Given the description of an element on the screen output the (x, y) to click on. 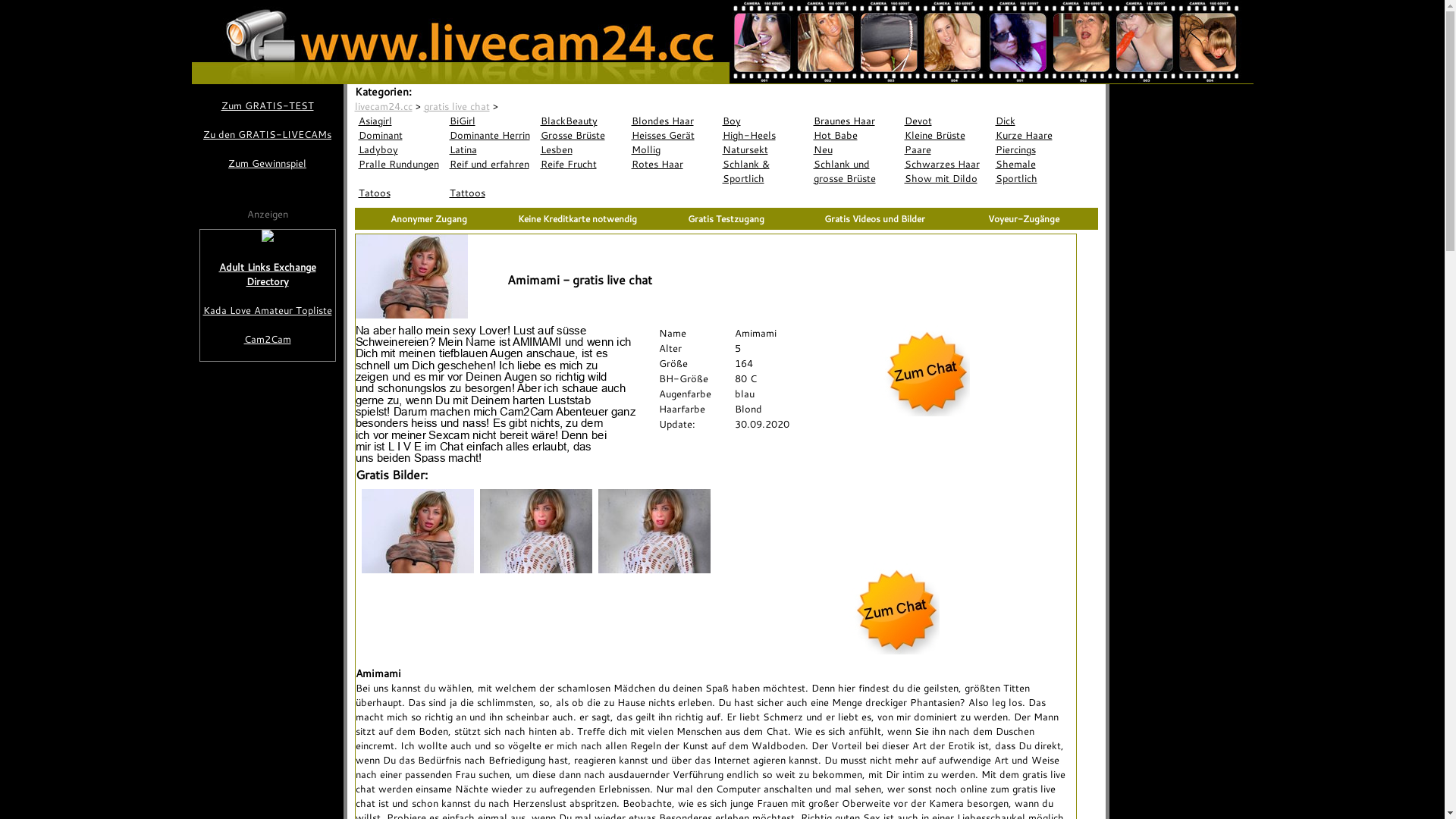
Mollig Element type: text (672, 149)
Show mit Dildo Element type: text (945, 178)
Pralle Rundungen Element type: text (399, 163)
Reife Frucht Element type: text (581, 163)
Dominant Element type: text (399, 135)
Kada Love Amateur Topliste Element type: text (267, 310)
Schlank & Sportlich Element type: text (763, 170)
Sex Chat gratis live chat Amimami Element type: hover (892, 650)
Paare Element type: text (945, 149)
Amimami Element type: text (521, 105)
Blondes Haar Element type: text (672, 120)
Zum GRATIS-TEST Element type: text (266, 105)
Latina Element type: text (490, 149)
Amimami Profil Element type: hover (494, 393)
Asiagirl Element type: text (399, 120)
Devot Element type: text (945, 120)
Amimami gratis live chat Element type: hover (410, 276)
Dick Element type: text (1036, 120)
Ladyboy Element type: text (399, 149)
Natursekt Element type: text (763, 149)
Neu Element type: text (854, 149)
Rotes Haar Element type: text (672, 163)
livecam24.cc Element type: text (383, 105)
Lesben Element type: text (581, 149)
Schwarzes Haar Element type: text (945, 163)
Braunes Haar Element type: text (854, 120)
Shemale Element type: text (1036, 163)
High-Heels Element type: text (763, 135)
Reif und erfahren Element type: text (490, 163)
Sportlich Element type: text (1036, 178)
Tatoos Element type: text (399, 192)
gratis live chat Element type: text (456, 105)
Kurze Haare Element type: text (1036, 135)
Cam2Cam Element type: text (267, 339)
Zum Gewinnspiel Element type: text (266, 163)
Adult Links Exchange Directory Element type: text (267, 274)
BiGirl Element type: text (490, 120)
Hot Babe Element type: text (854, 135)
Dominante Herrin Element type: text (490, 135)
BlackBeauty Element type: text (581, 120)
Zu den GRATIS-LIVECAMs Element type: text (266, 134)
Sex Chat gratis live chat Amimami Element type: hover (923, 412)
Tattoos Element type: text (490, 192)
Piercings Element type: text (1036, 149)
Boy Element type: text (763, 120)
